Given the description of an element on the screen output the (x, y) to click on. 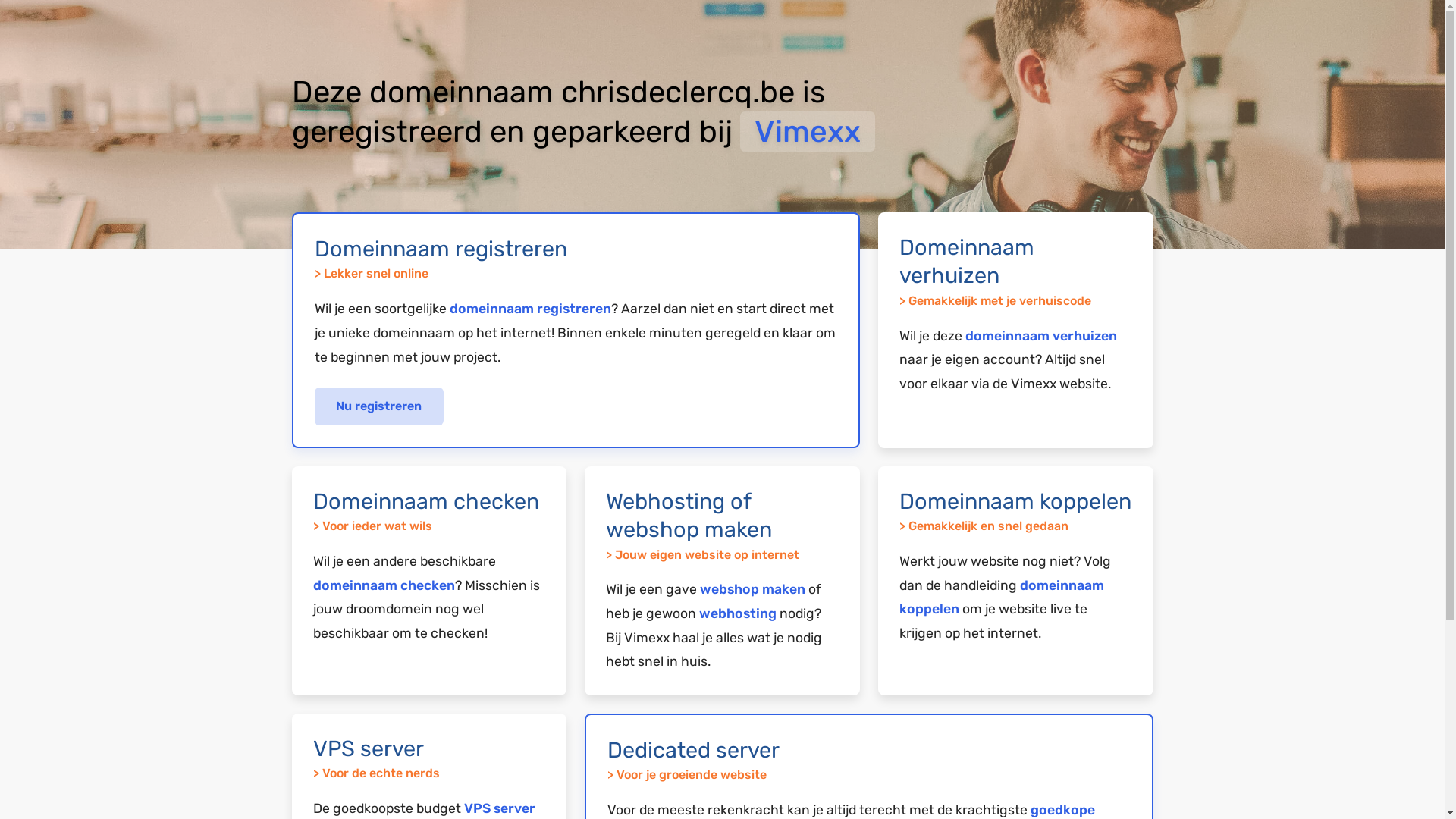
webshop maken Element type: text (752, 588)
domeinnaam koppelen Element type: text (1001, 597)
VPS server Element type: text (499, 807)
Vimexx Element type: text (807, 131)
domeinnaam registreren Element type: text (529, 308)
Nu registreren Element type: text (378, 406)
domeinnaam verhuizen Element type: text (1041, 335)
domeinnaam checken Element type: text (383, 585)
webhosting Element type: text (737, 613)
